Given the description of an element on the screen output the (x, y) to click on. 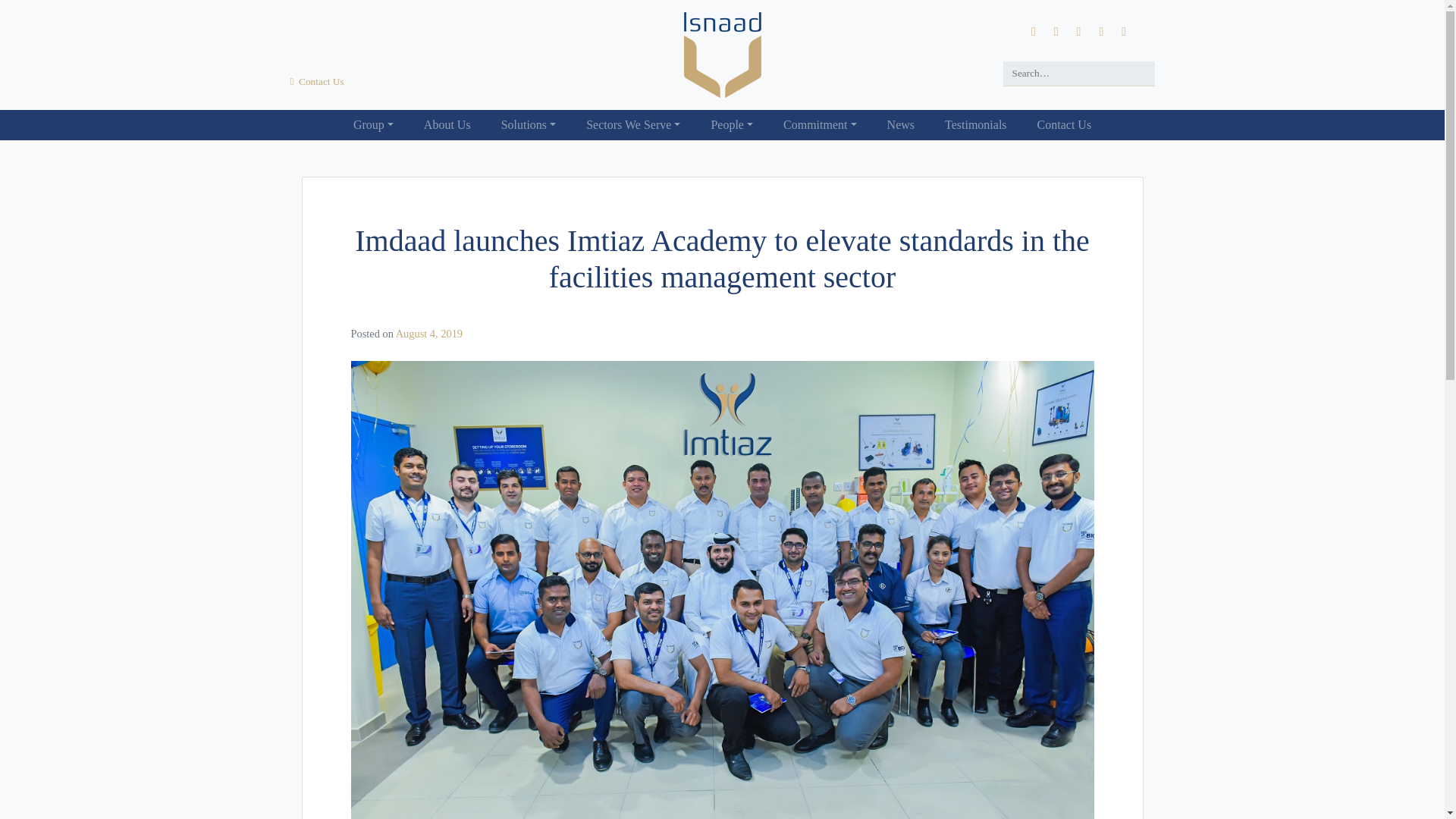
Group (373, 124)
  Contact Us (316, 81)
About Us (447, 124)
Sectors We Serve (632, 124)
Solutions (529, 124)
